Given the description of an element on the screen output the (x, y) to click on. 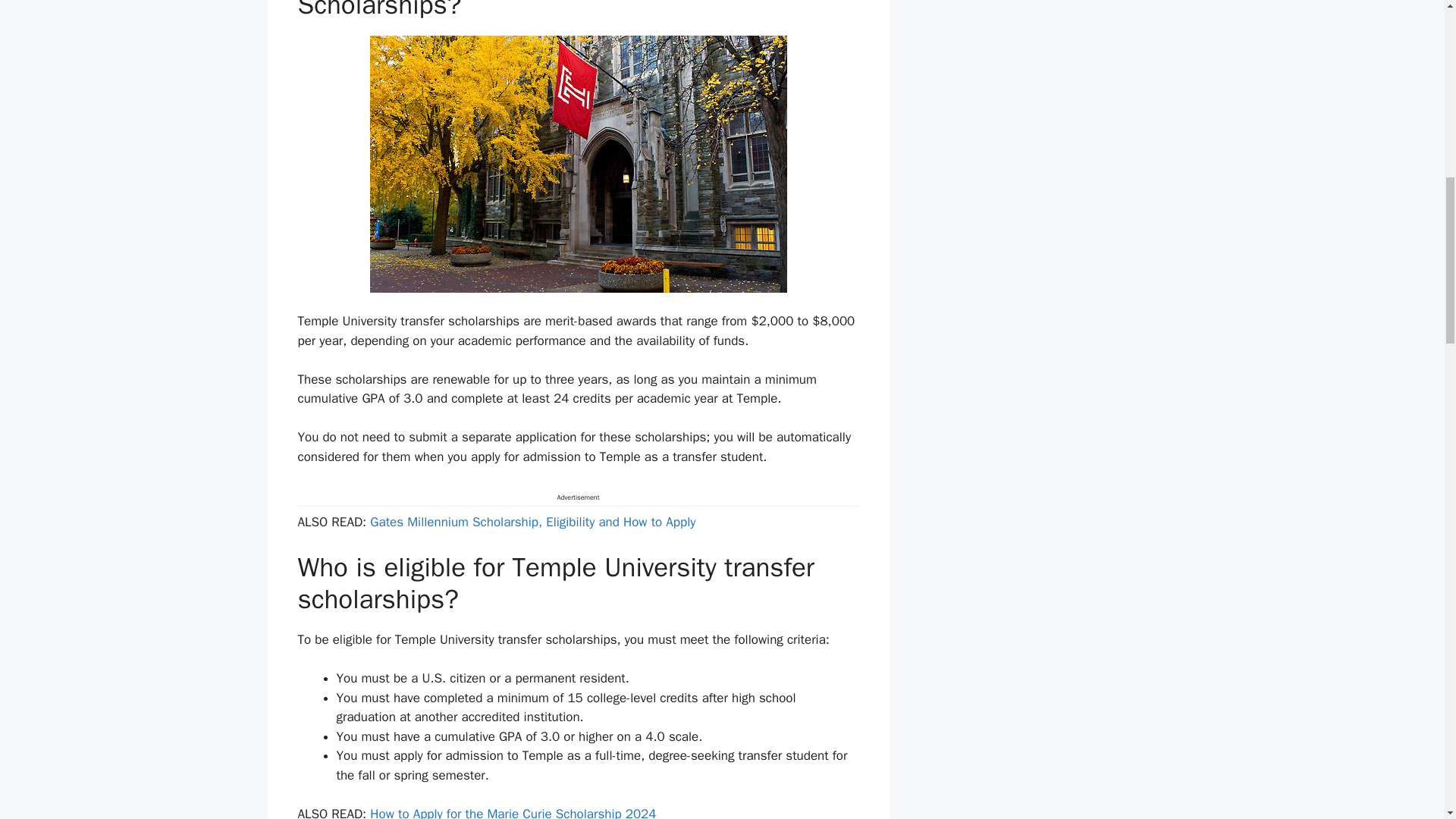
Gates Millennium Scholarship, Eligibility and How to Apply (532, 521)
How to Apply for the Marie Curie Scholarship 2024 (512, 812)
